Given the description of an element on the screen output the (x, y) to click on. 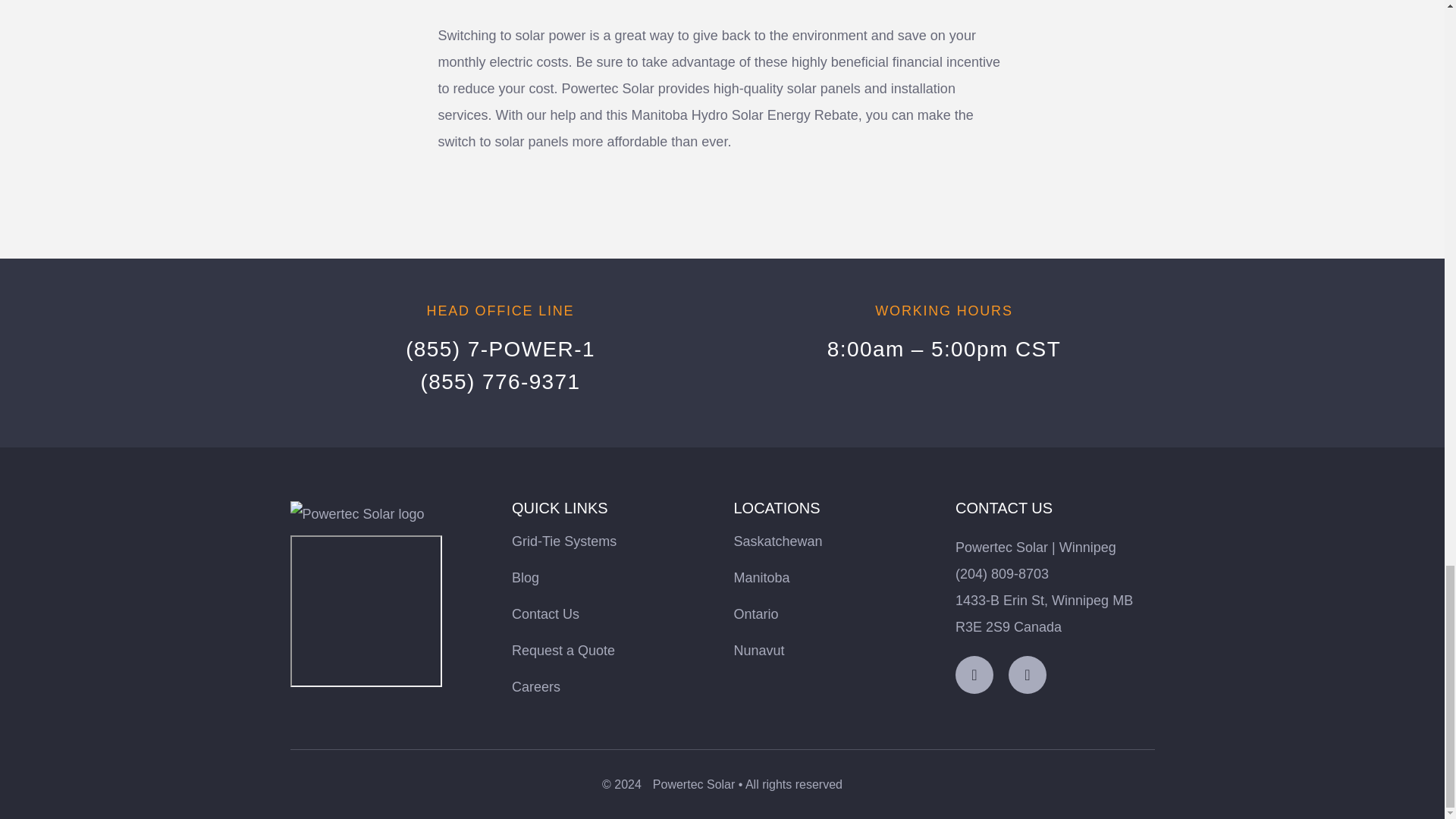
Saskatchewan (777, 540)
Contact Us (545, 613)
Blog (525, 577)
Grid-Tie Systems (563, 540)
Careers (536, 686)
Manitoba (761, 577)
Request a Quote (563, 650)
